Given the description of an element on the screen output the (x, y) to click on. 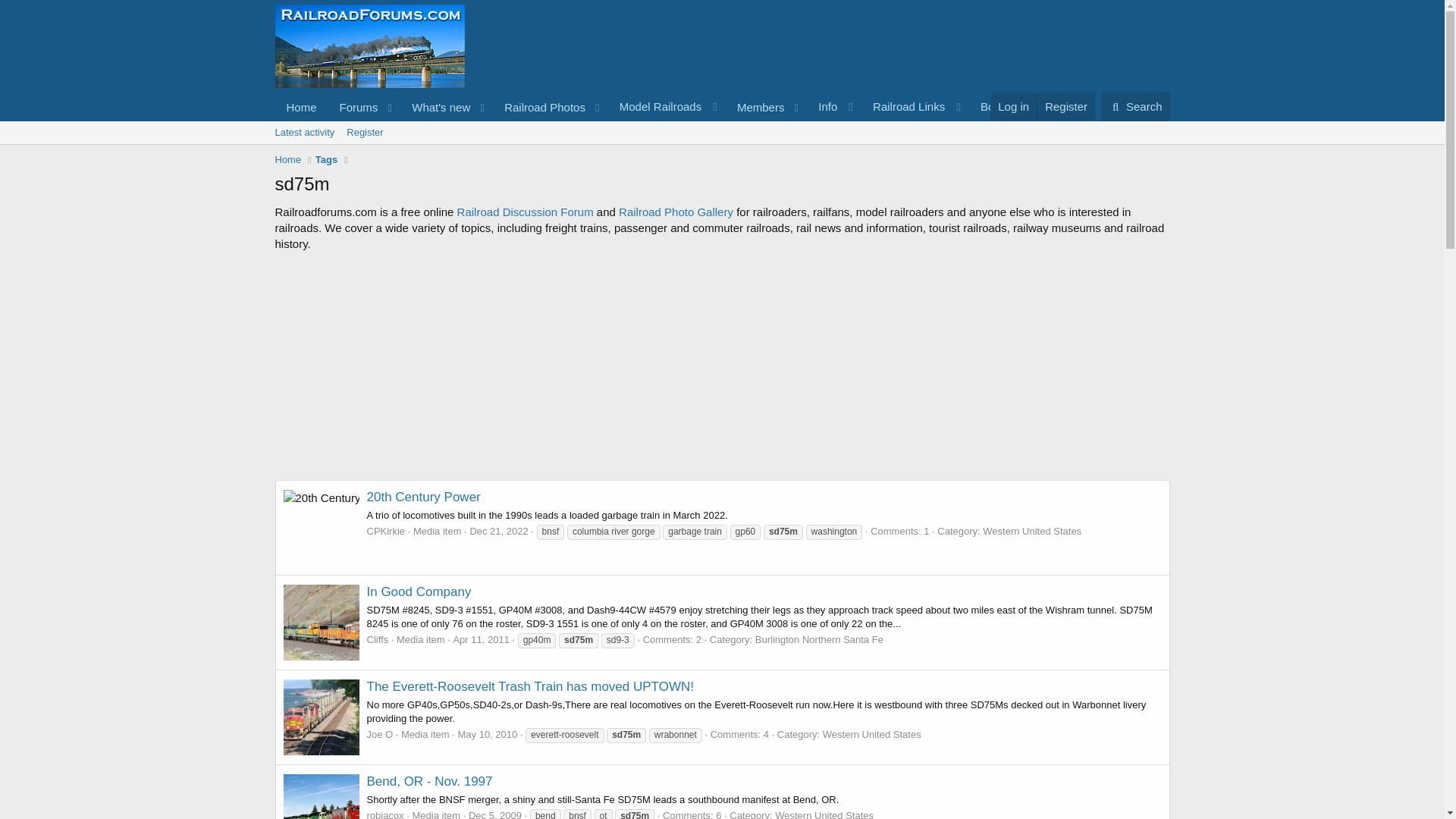
May 10, 2010 at 11:50 PM (486, 734)
What's new (720, 132)
Apr 11, 2011 at 9:25 PM (435, 107)
Members (480, 639)
Home (755, 107)
Railroad Links (301, 107)
Railroad Photos (915, 106)
Dec 5, 2009 at 5:21 PM (539, 107)
Model Railroads (494, 814)
Search (666, 106)
Log in (1135, 106)
Bookstore (1013, 106)
Forums (1012, 106)
